Given the description of an element on the screen output the (x, y) to click on. 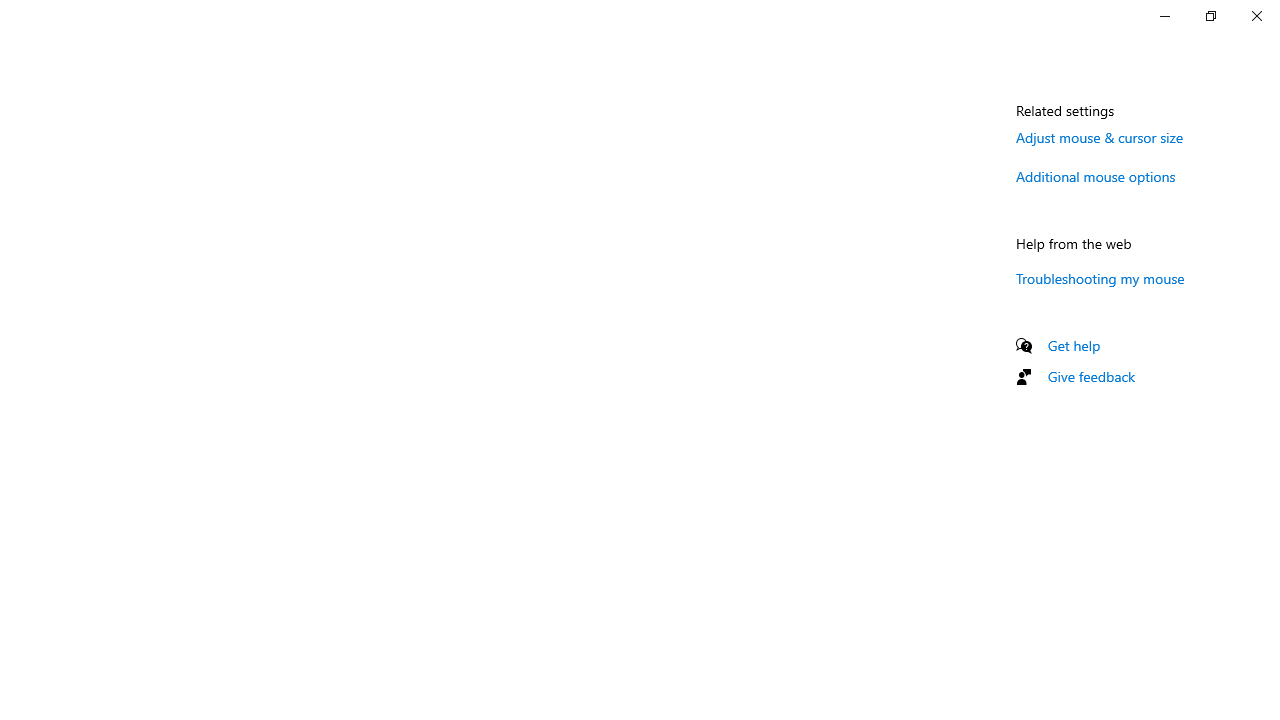
Restore Settings (1210, 15)
Troubleshooting my mouse (1100, 278)
Adjust mouse & cursor size (1100, 137)
Additional mouse options (1096, 176)
Close Settings (1256, 15)
Minimize Settings (1164, 15)
Get help (1074, 345)
Give feedback (1091, 376)
